Given the description of an element on the screen output the (x, y) to click on. 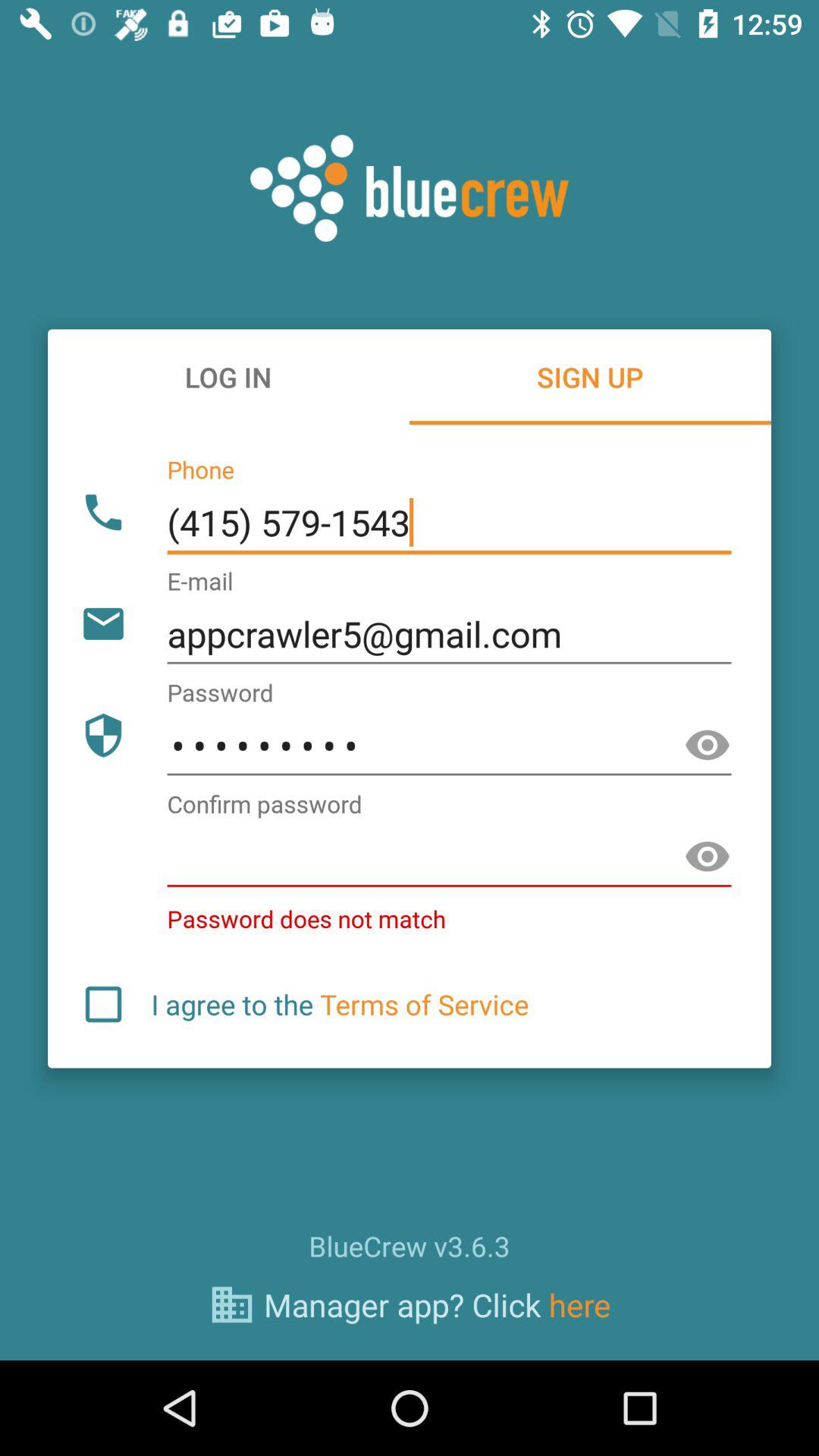
confirm password setting line (449, 857)
